Given the description of an element on the screen output the (x, y) to click on. 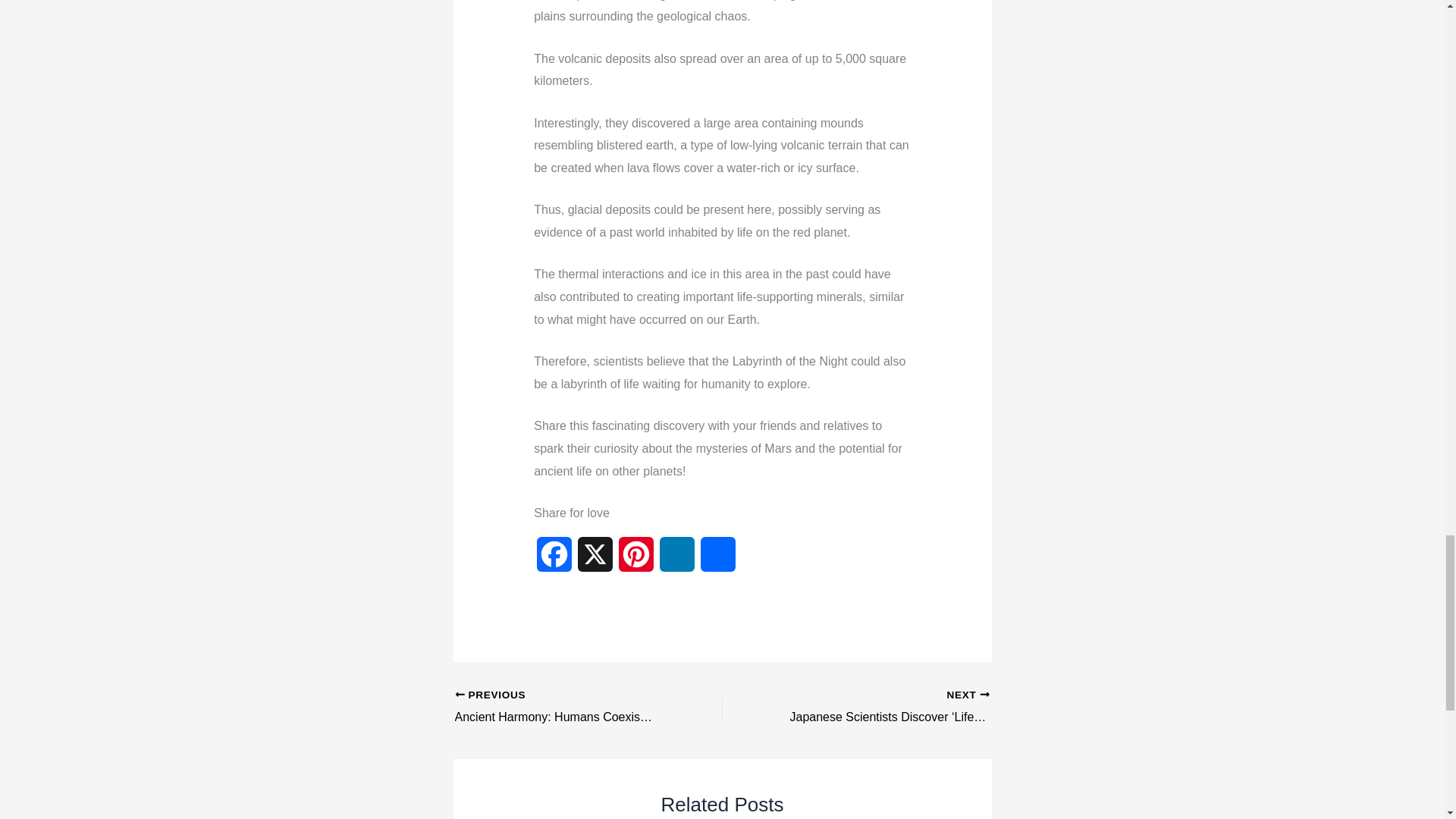
Japanese Scientists Discover 'Life-Giving Rays' on Mars (882, 707)
